Given the description of an element on the screen output the (x, y) to click on. 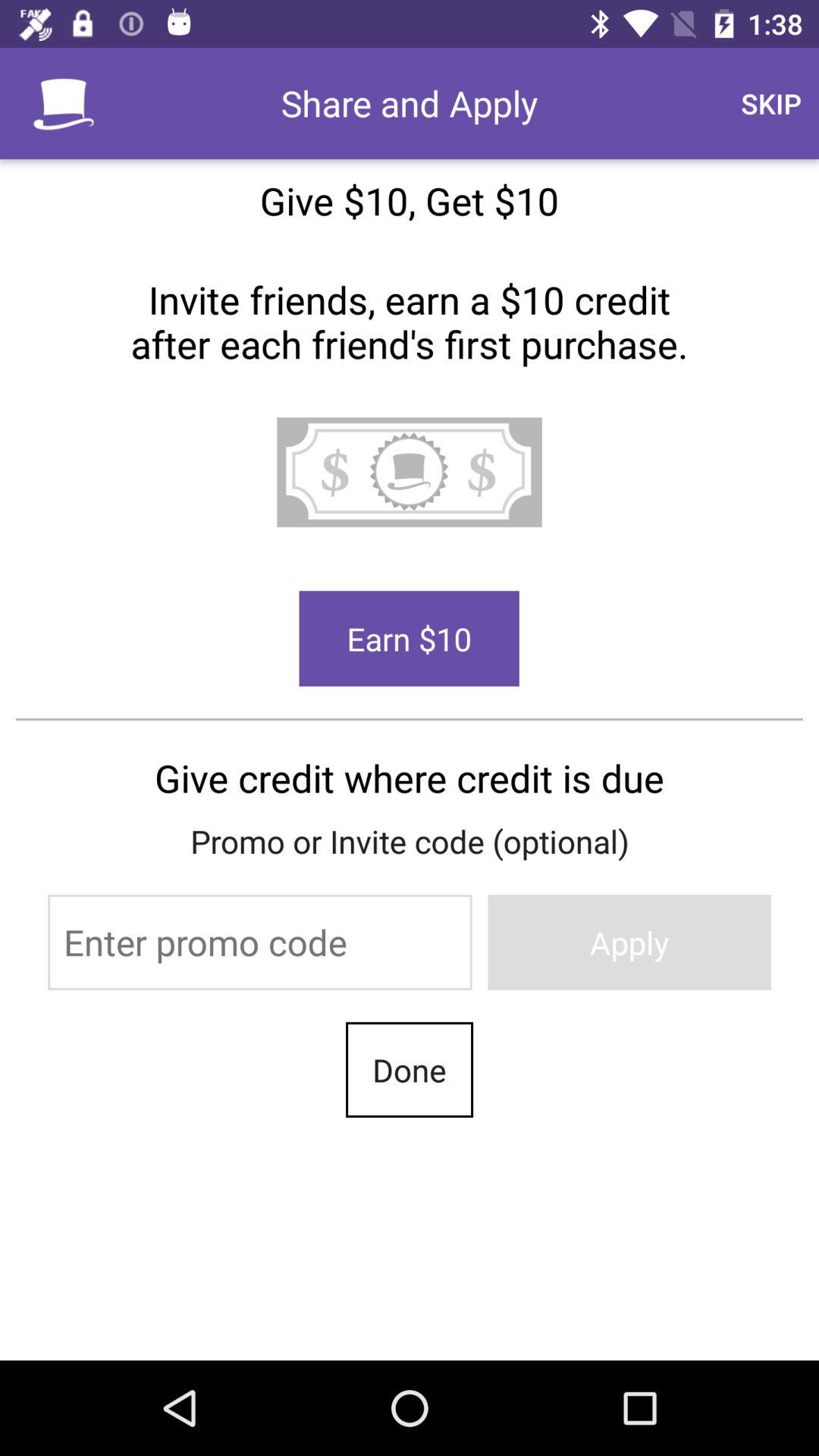
enter promo code field (259, 942)
